Given the description of an element on the screen output the (x, y) to click on. 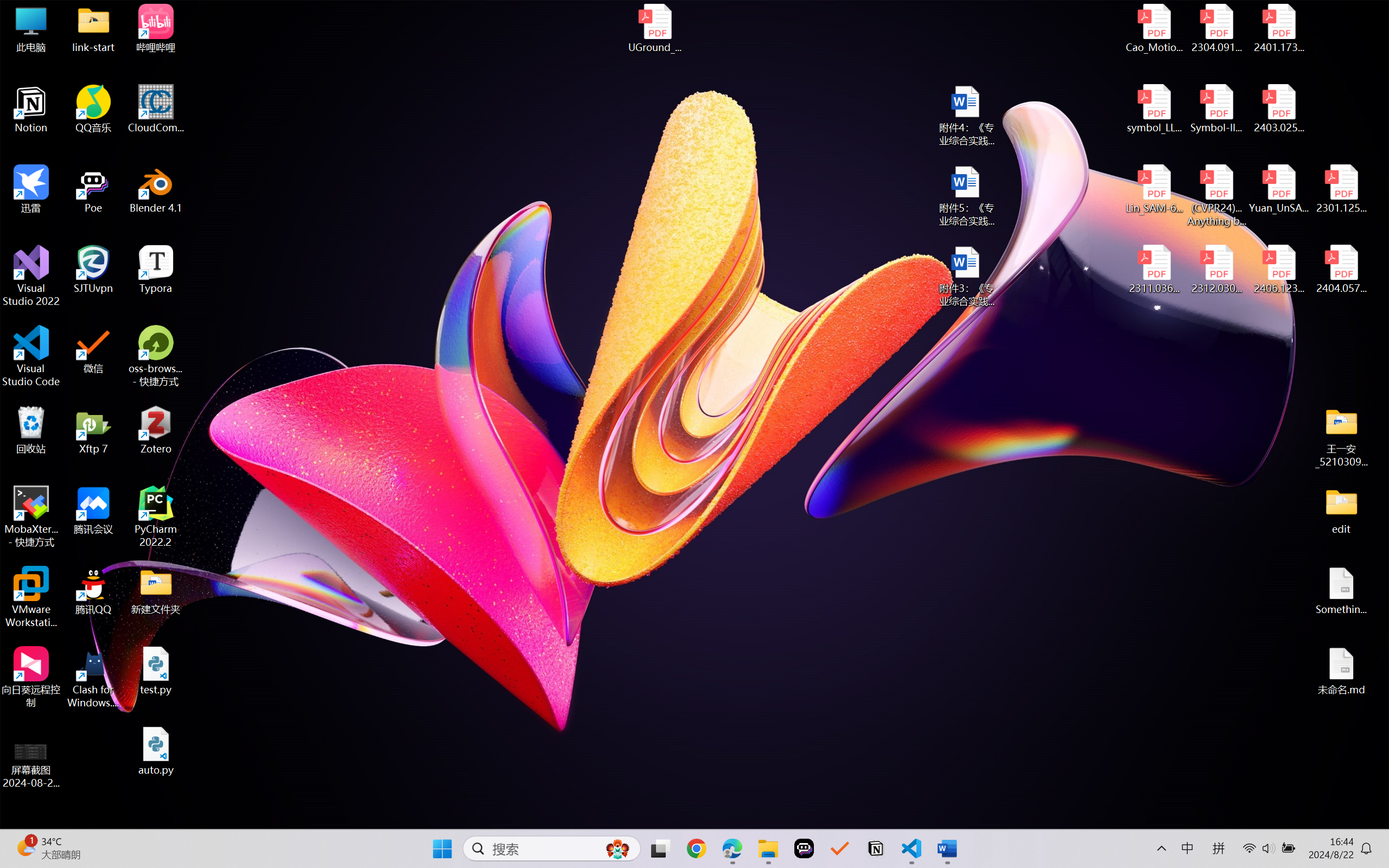
2312.03032v2.pdf (1216, 269)
Something.md (1340, 591)
SJTUvpn (93, 269)
2403.02502v1.pdf (1278, 109)
2304.09121v3.pdf (1216, 28)
2401.17399v1.pdf (1278, 28)
PyCharm 2022.2 (156, 516)
